Given the description of an element on the screen output the (x, y) to click on. 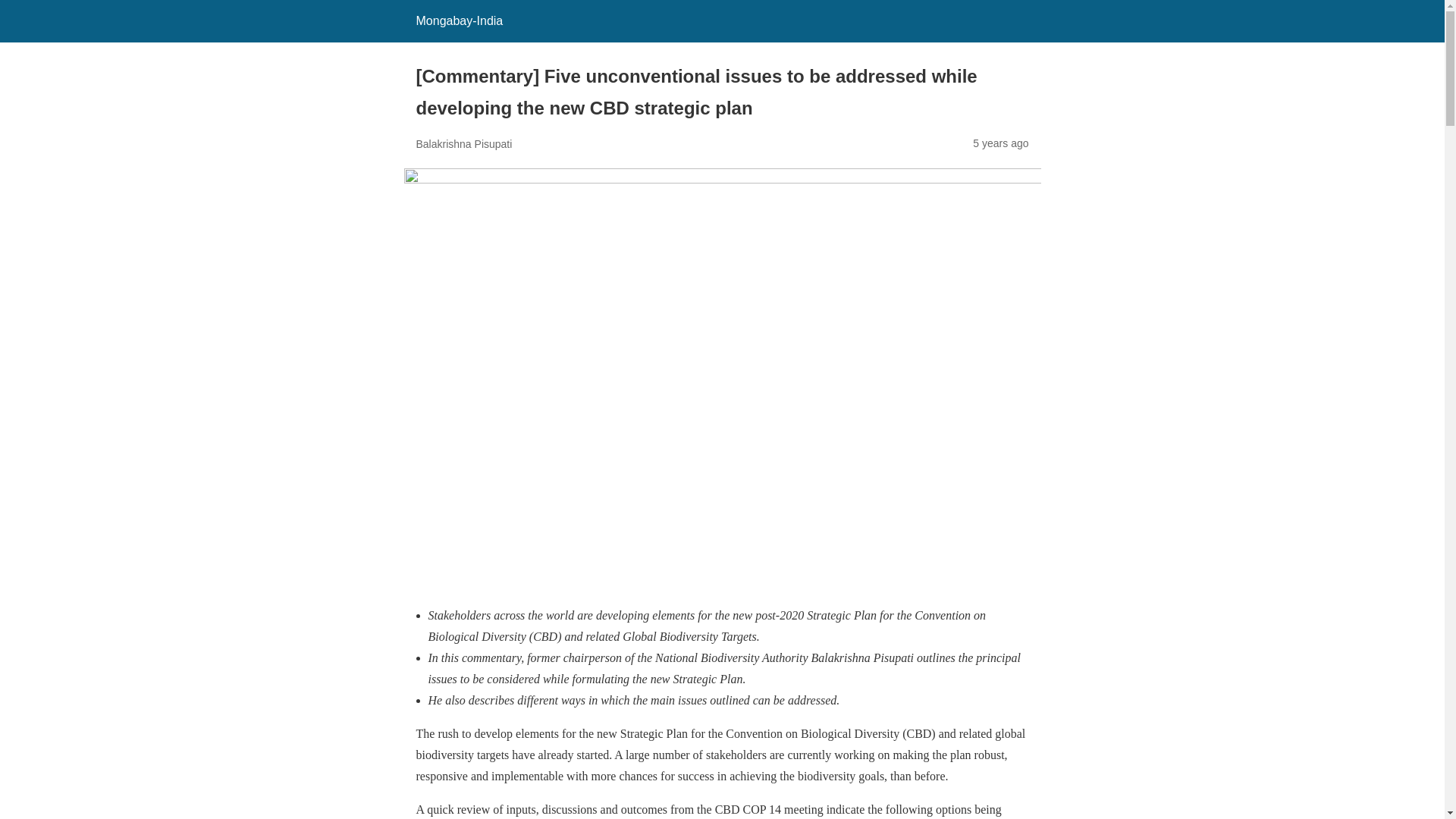
Mongabay-India (458, 20)
